Given the description of an element on the screen output the (x, y) to click on. 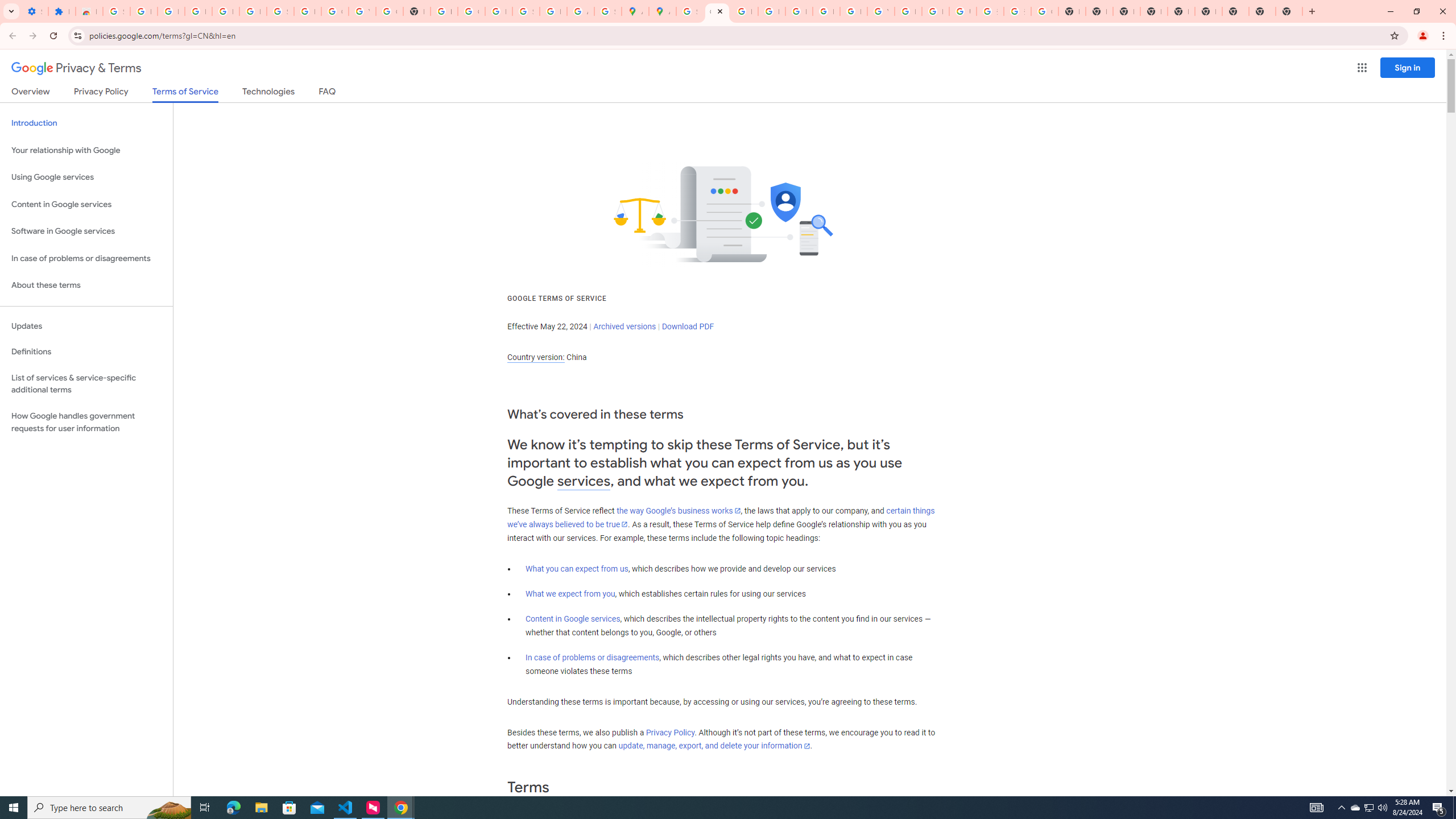
Your relationship with Google (86, 150)
Definitions (86, 352)
Software in Google services (86, 230)
Privacy Help Center - Policies Help (743, 11)
Reviews: Helix Fruit Jump Arcade Game (88, 11)
update, manage, export, and delete your information (714, 746)
Sign in - Google Accounts (280, 11)
Country version: (535, 357)
